Given the description of an element on the screen output the (x, y) to click on. 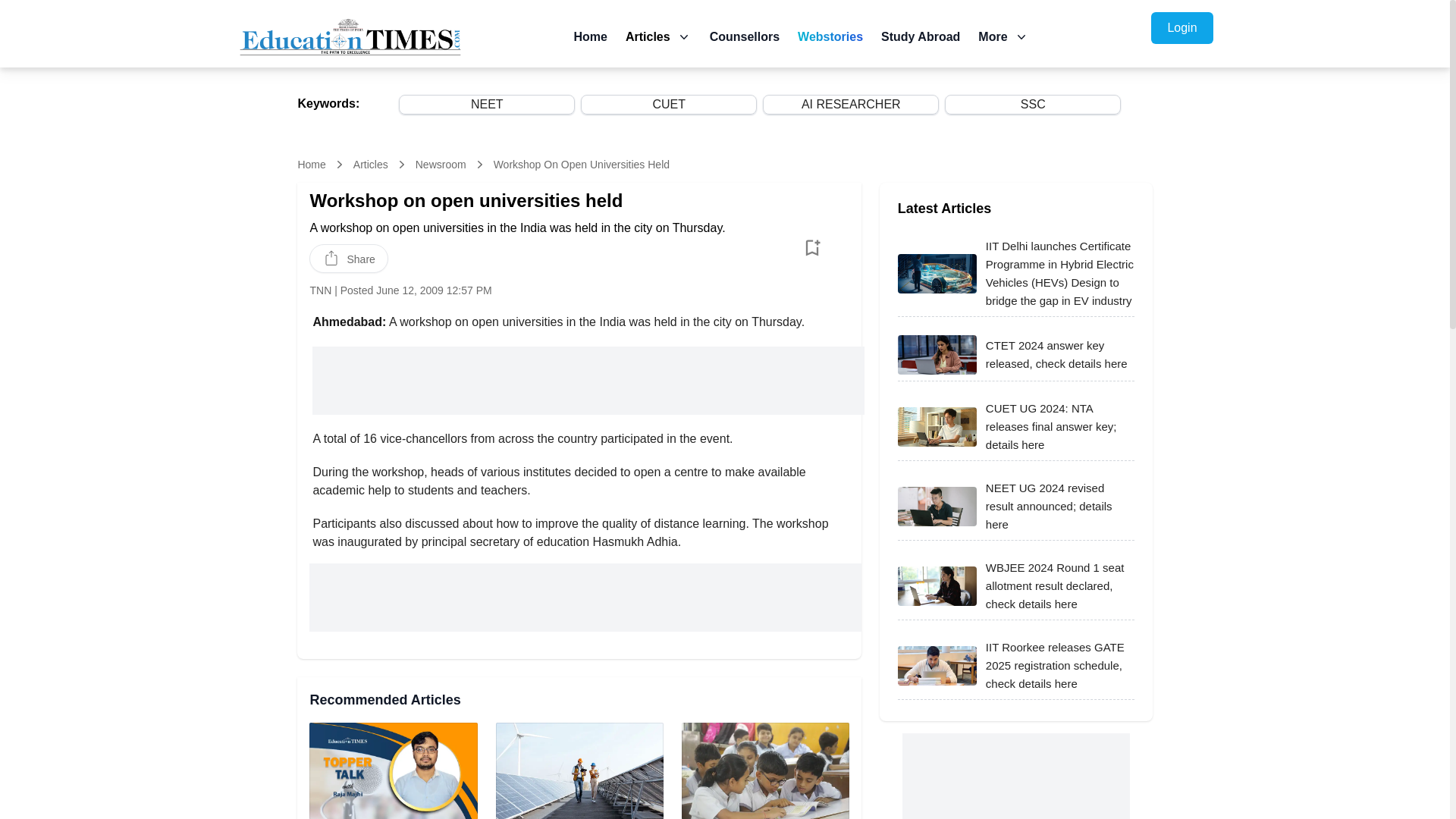
Study Abroad (919, 36)
Counsellors (744, 36)
NEET (487, 104)
3rd party ad content (1015, 776)
CUET UG 2024: NTA releases final answer key; details here (937, 426)
SSC (1033, 104)
3rd party ad content (584, 597)
Webstories (830, 36)
NEET UG 2024 revised result announced; details here (937, 506)
Workshop On Open Universities Held (581, 164)
Login (1181, 28)
Articles (647, 36)
AI RESEARCHER (851, 104)
